Given the description of an element on the screen output the (x, y) to click on. 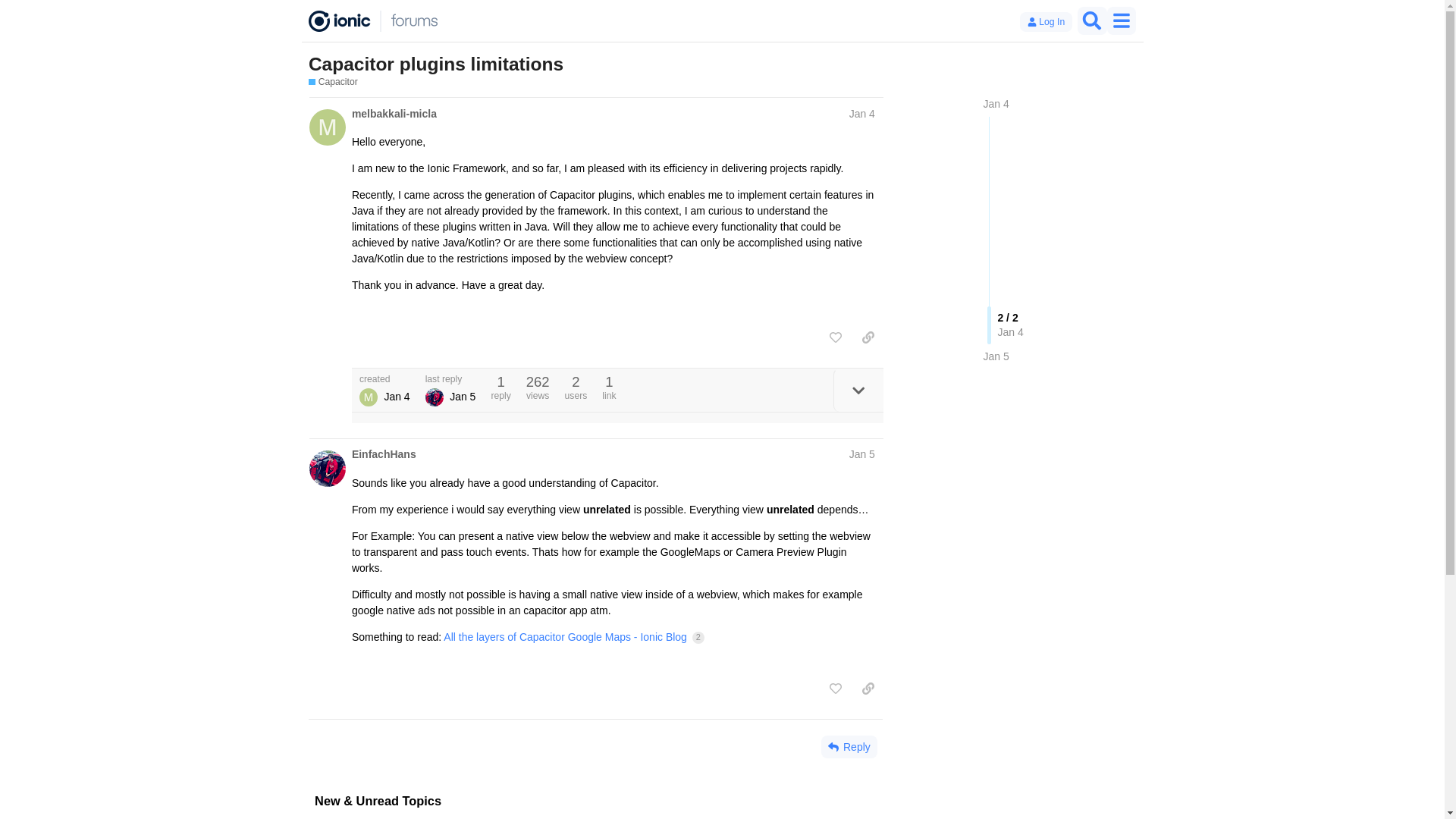
Jan 5, 2024 1:36 am (462, 396)
like this post (835, 337)
copy a link to this post to clipboard (868, 337)
Jump to the first post (995, 103)
Melbakkali Micla (368, 397)
Jan 5 (995, 356)
Post date (861, 453)
melbakkali-micla (394, 114)
Reply (849, 746)
Jan 4, 2024 6:37 pm (396, 396)
last reply (450, 379)
Post date (861, 113)
Log In (1045, 21)
EinfachHans (384, 454)
